Given the description of an element on the screen output the (x, y) to click on. 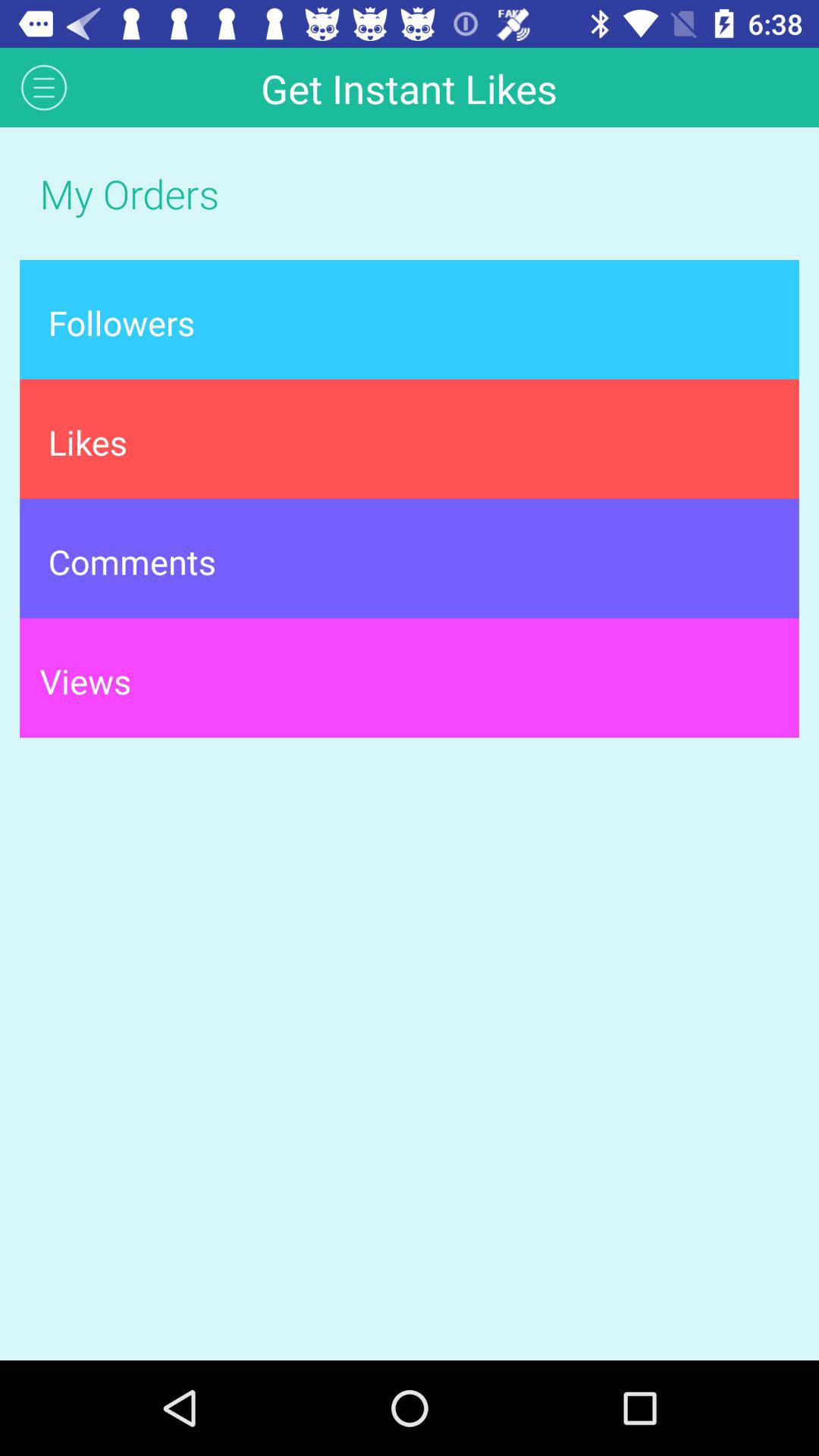
click app above the my orders (44, 87)
